Given the description of an element on the screen output the (x, y) to click on. 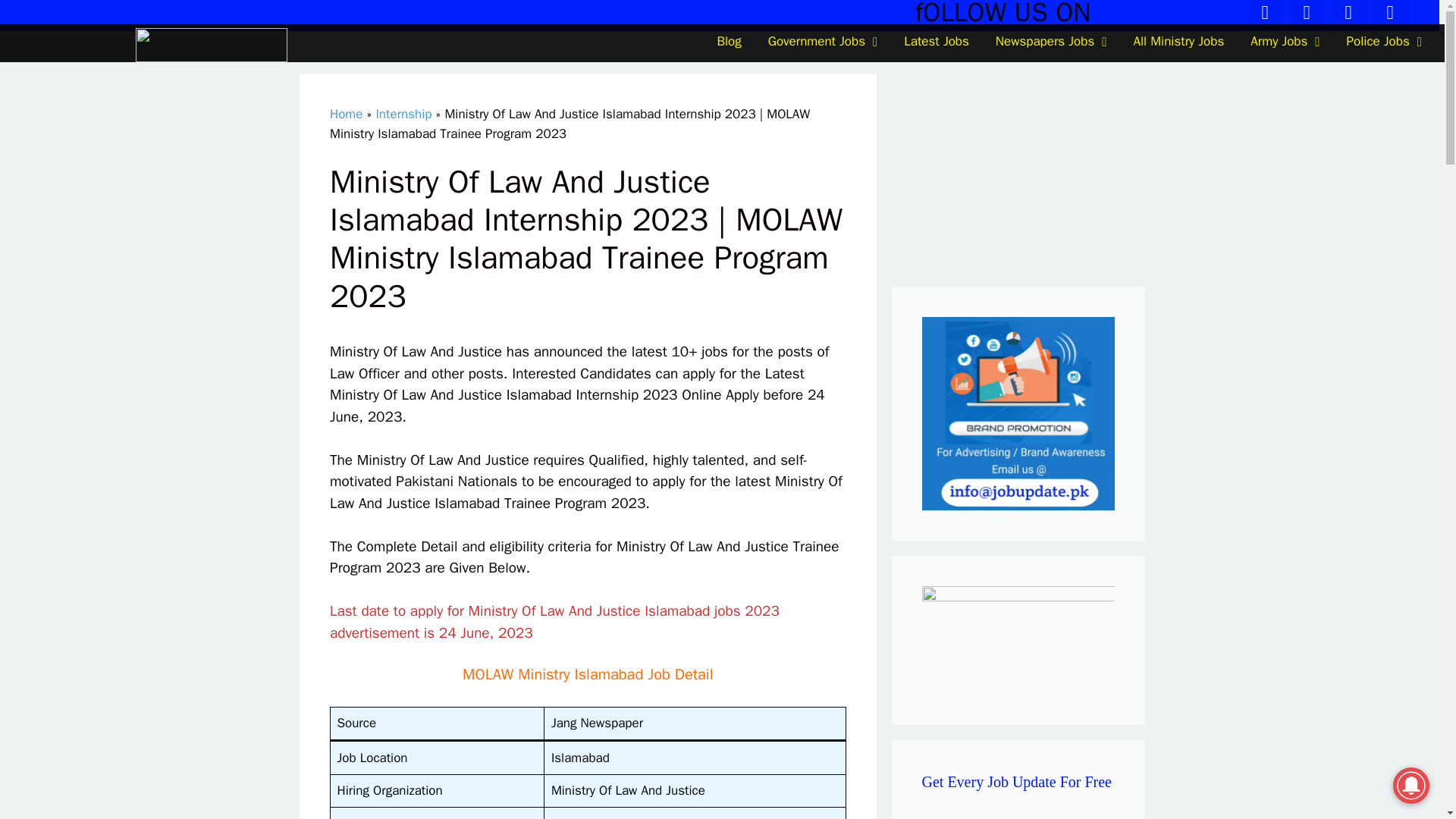
Latest Jobs (936, 41)
Newspapers Jobs (1050, 41)
Blog (728, 41)
Government Jobs (822, 41)
